Given the description of an element on the screen output the (x, y) to click on. 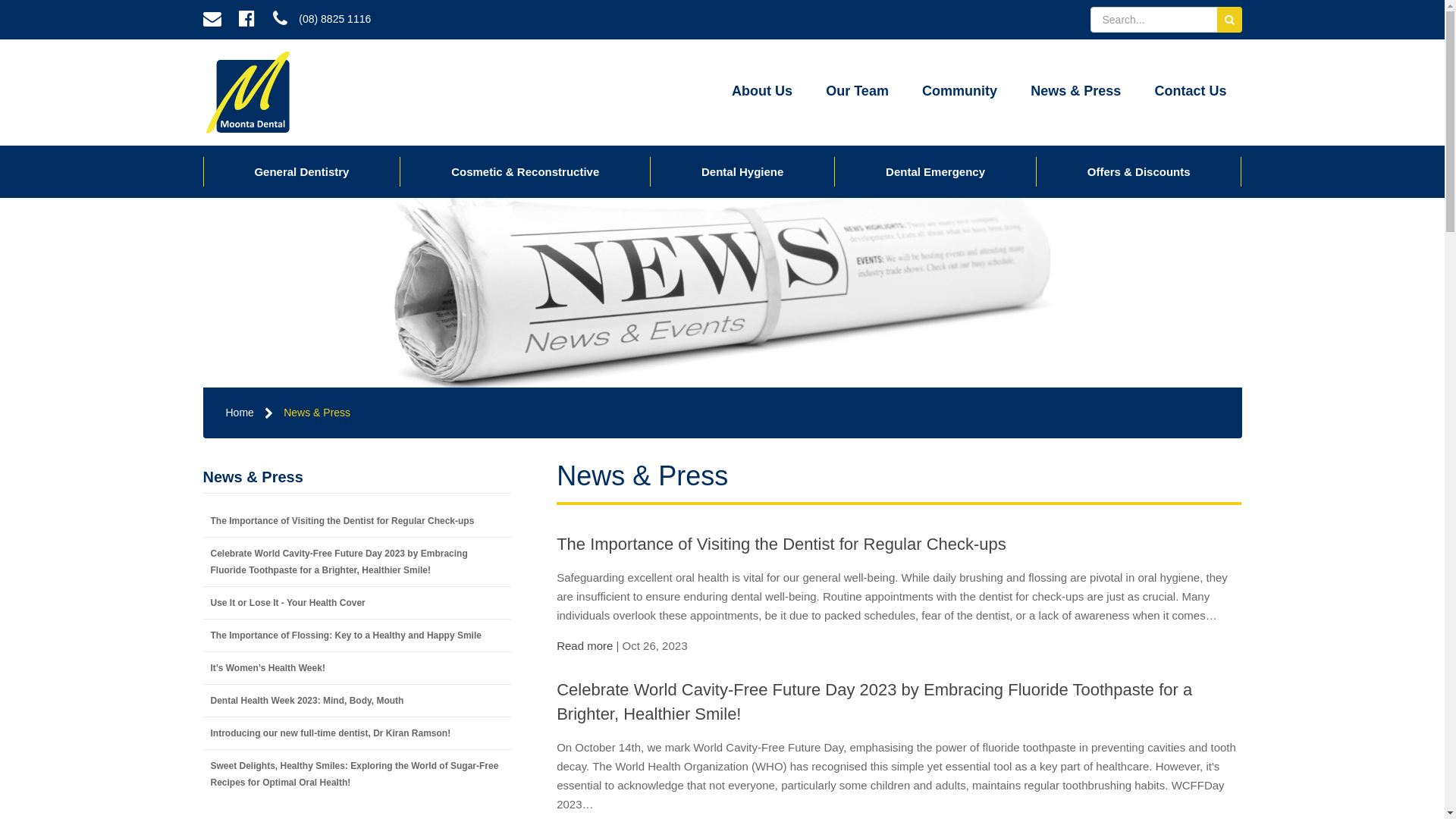
To our Home page Element type: hover (248, 92)
Dental Hygiene Element type: text (742, 171)
Community Element type: text (959, 92)
News & Press Element type: text (316, 412)
The Importance of Visiting the Dentist for Regular Check-ups Element type: text (781, 543)
Introducing our new full-time dentist, Dr Kiran Ramson! Element type: text (357, 733)
Dental Emergency Element type: text (934, 171)
News & Press Element type: text (357, 476)
Dental Health Week 2023: Mind, Body, Mouth Element type: text (357, 700)
General Dentistry Element type: text (301, 171)
The Importance of Flossing: Key to a Healthy and Happy Smile Element type: text (357, 635)
Contact us via email Element type: hover (212, 19)
Home Element type: text (239, 412)
Offers & Discounts Element type: text (1138, 171)
Check out our Facebook page Element type: hover (246, 19)
Use It or Lose It - Your Health Cover Element type: text (357, 602)
Read more Element type: text (584, 645)
News & Press Element type: text (1075, 92)
The Importance of Visiting the Dentist for Regular Check-ups Element type: text (357, 520)
(08) 8825 1116 Element type: text (321, 19)
Contact Us Element type: text (1189, 92)
Cosmetic & Reconstructive Element type: text (524, 171)
About Us Element type: text (762, 92)
Our Team Element type: text (857, 92)
